Given the description of an element on the screen output the (x, y) to click on. 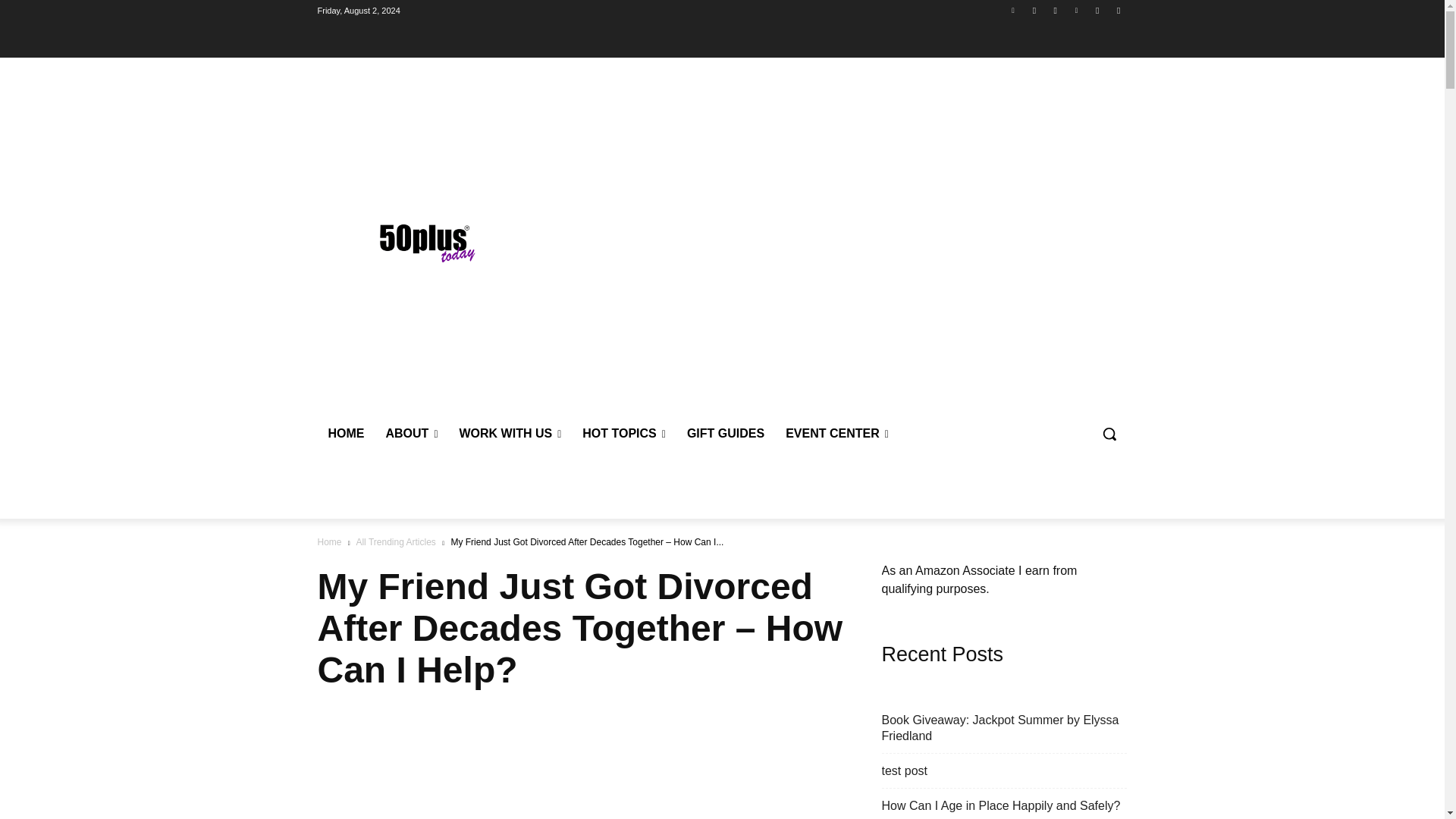
Linkedin (1013, 9)
Medium (1117, 9)
Youtube (1034, 9)
View all posts in All Trending Articles (395, 542)
Facebook (1055, 9)
Pinterest (1075, 9)
Instagram (1097, 9)
